Given the description of an element on the screen output the (x, y) to click on. 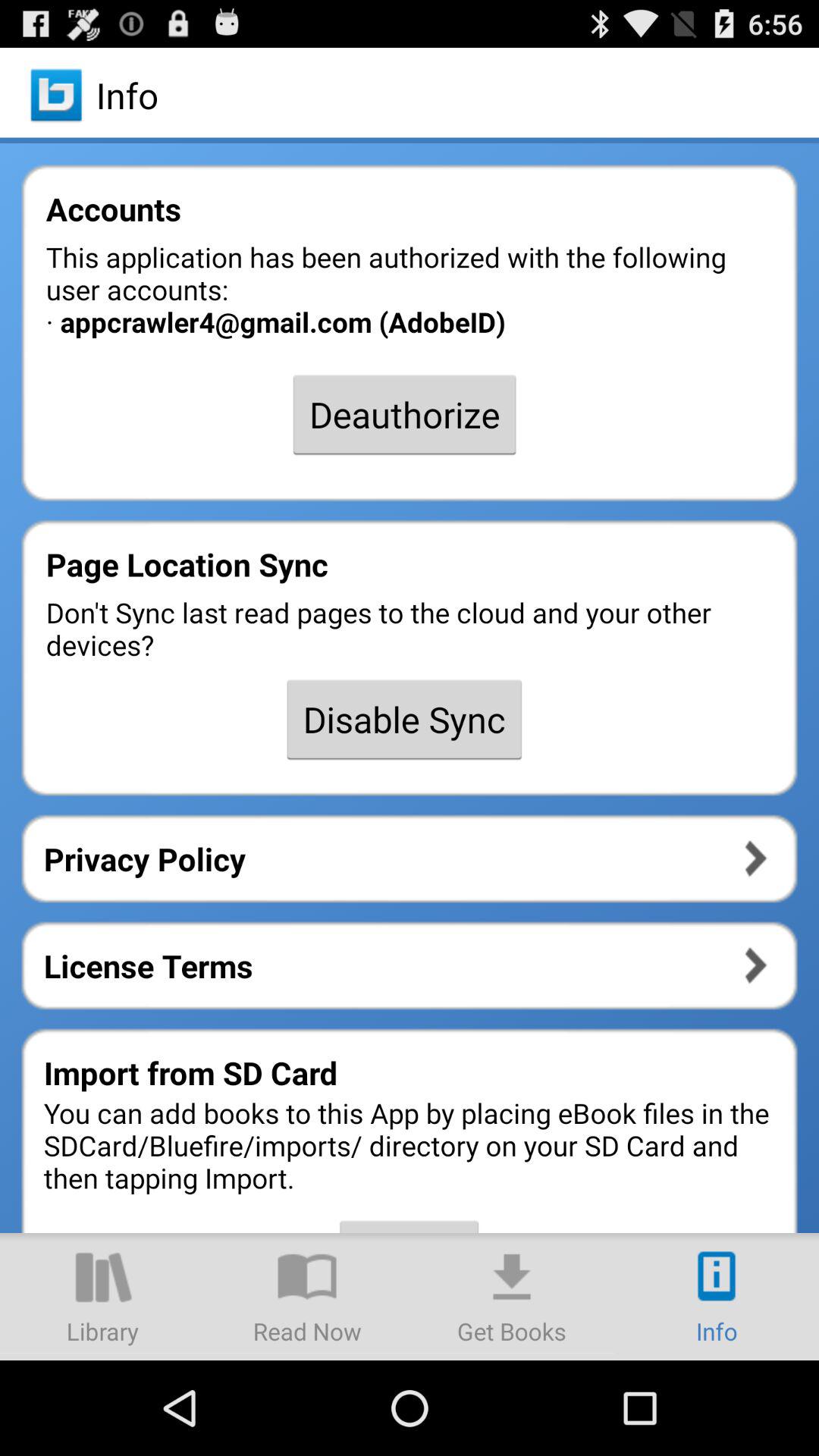
jump until the disable sync item (404, 719)
